Given the description of an element on the screen output the (x, y) to click on. 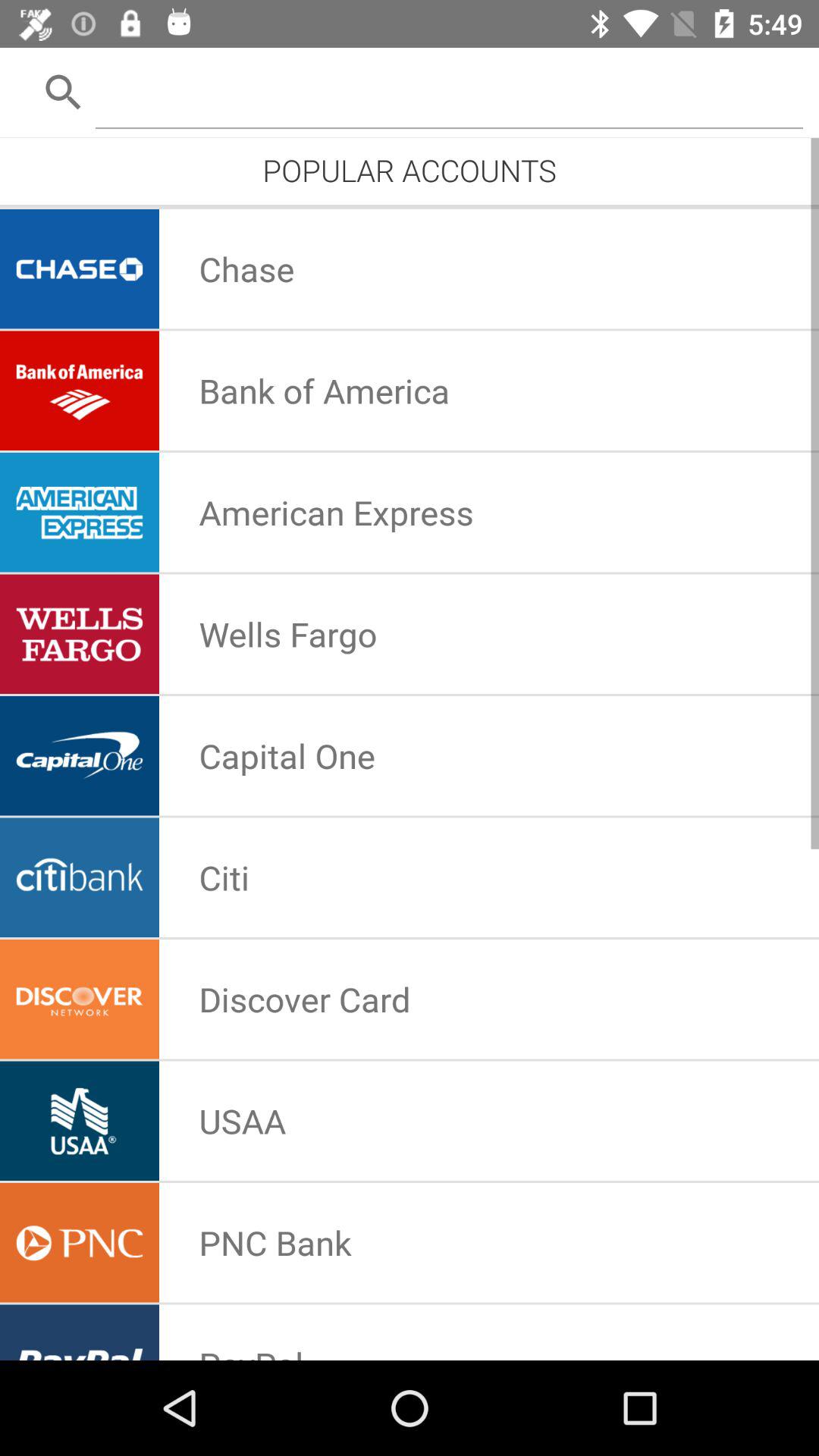
scroll to citi item (224, 877)
